Given the description of an element on the screen output the (x, y) to click on. 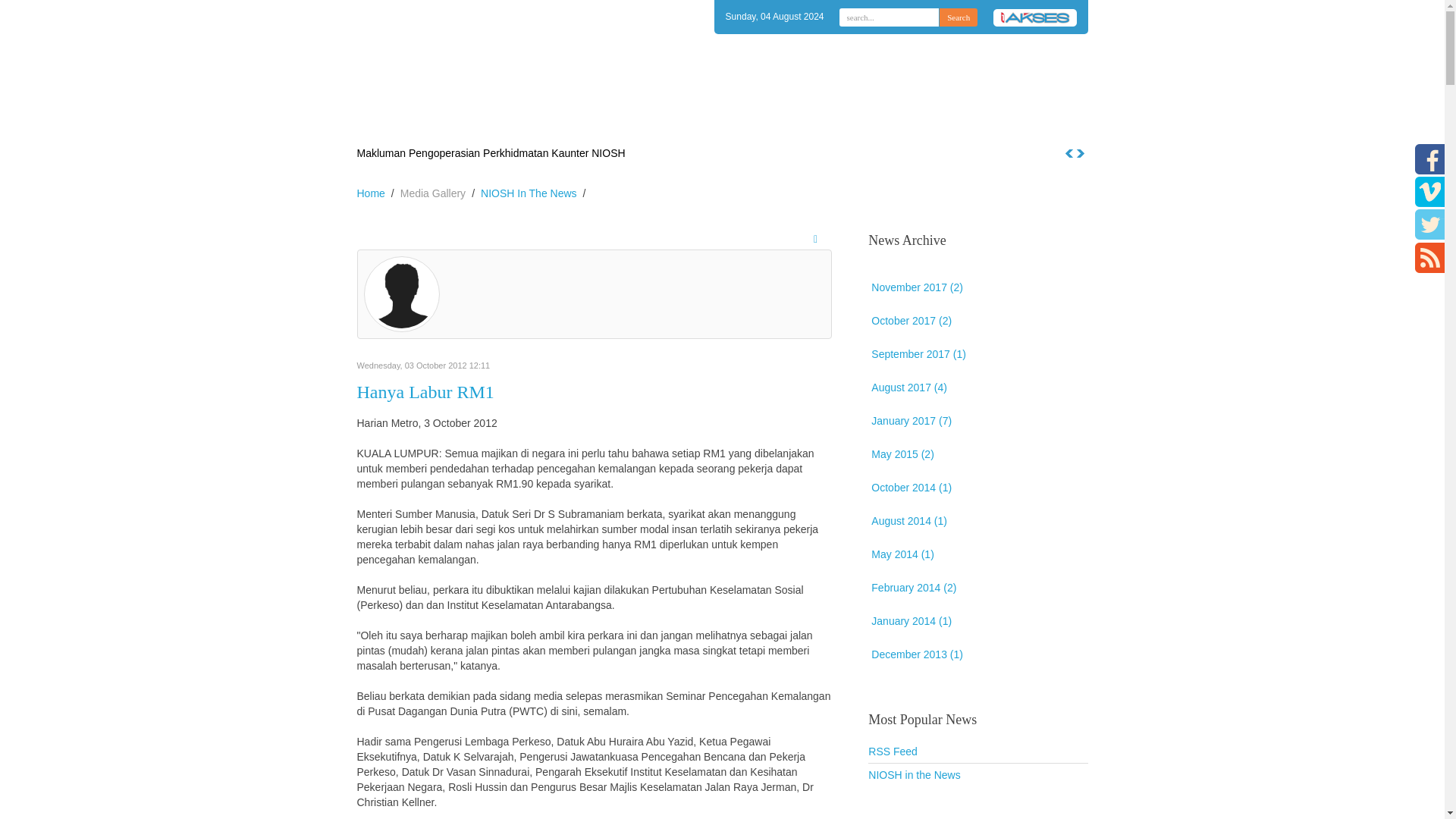
Home (576, 118)
Contact Us (924, 118)
FAQ (868, 118)
Downloads (811, 118)
Corporate Info (644, 118)
Subscribe to this RSS feed (819, 240)
Search (957, 16)
Makluman Pengoperasian Perkhidmatan Kaunter NIOSH (490, 152)
Announcement (731, 118)
